Given the description of an element on the screen output the (x, y) to click on. 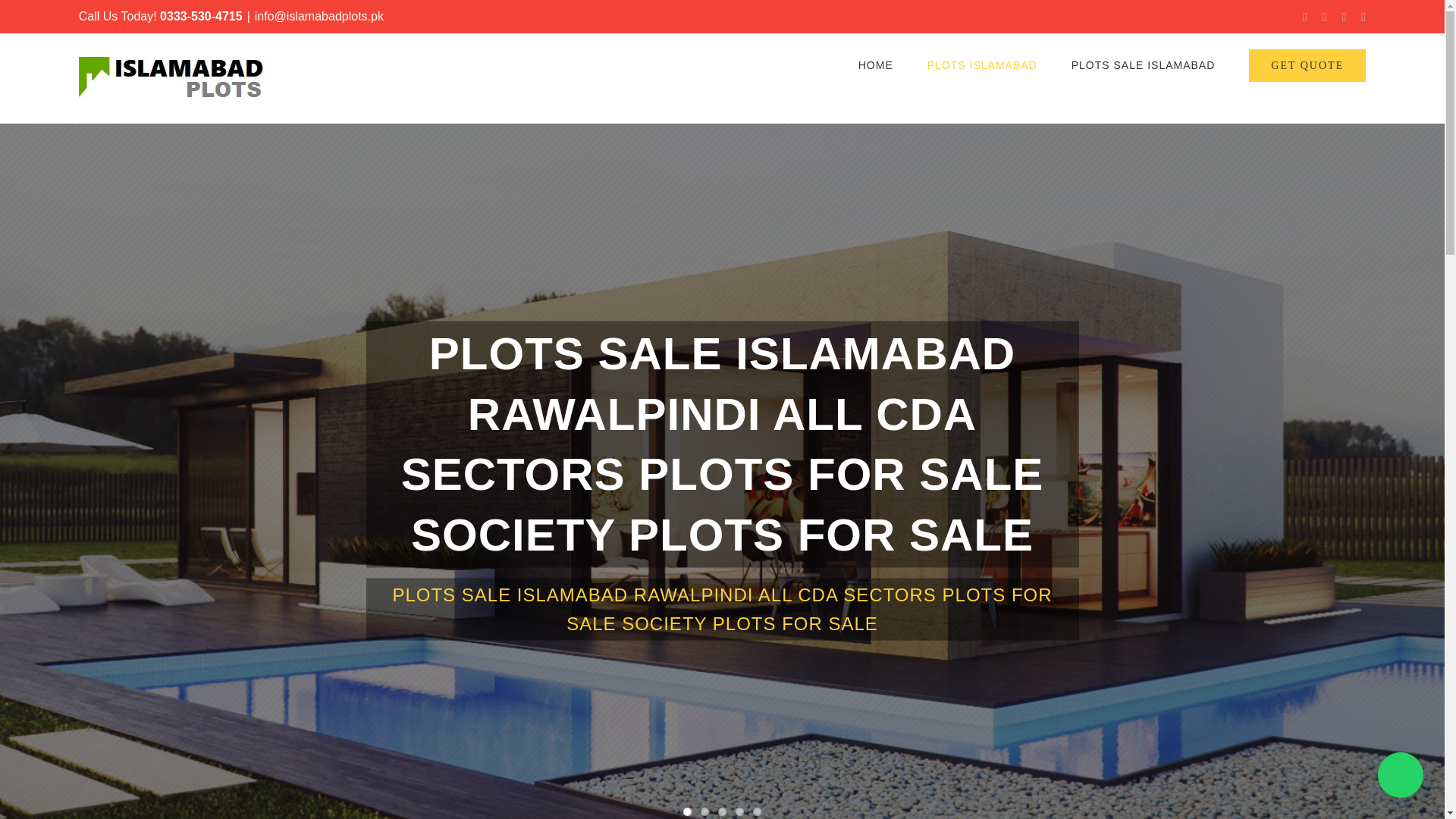
0333-530-4715 (201, 15)
PLOTS SALE ISLAMABAD (1143, 65)
GET QUOTE (1307, 65)
PLOTS ISLAMABAD (981, 65)
